Given the description of an element on the screen output the (x, y) to click on. 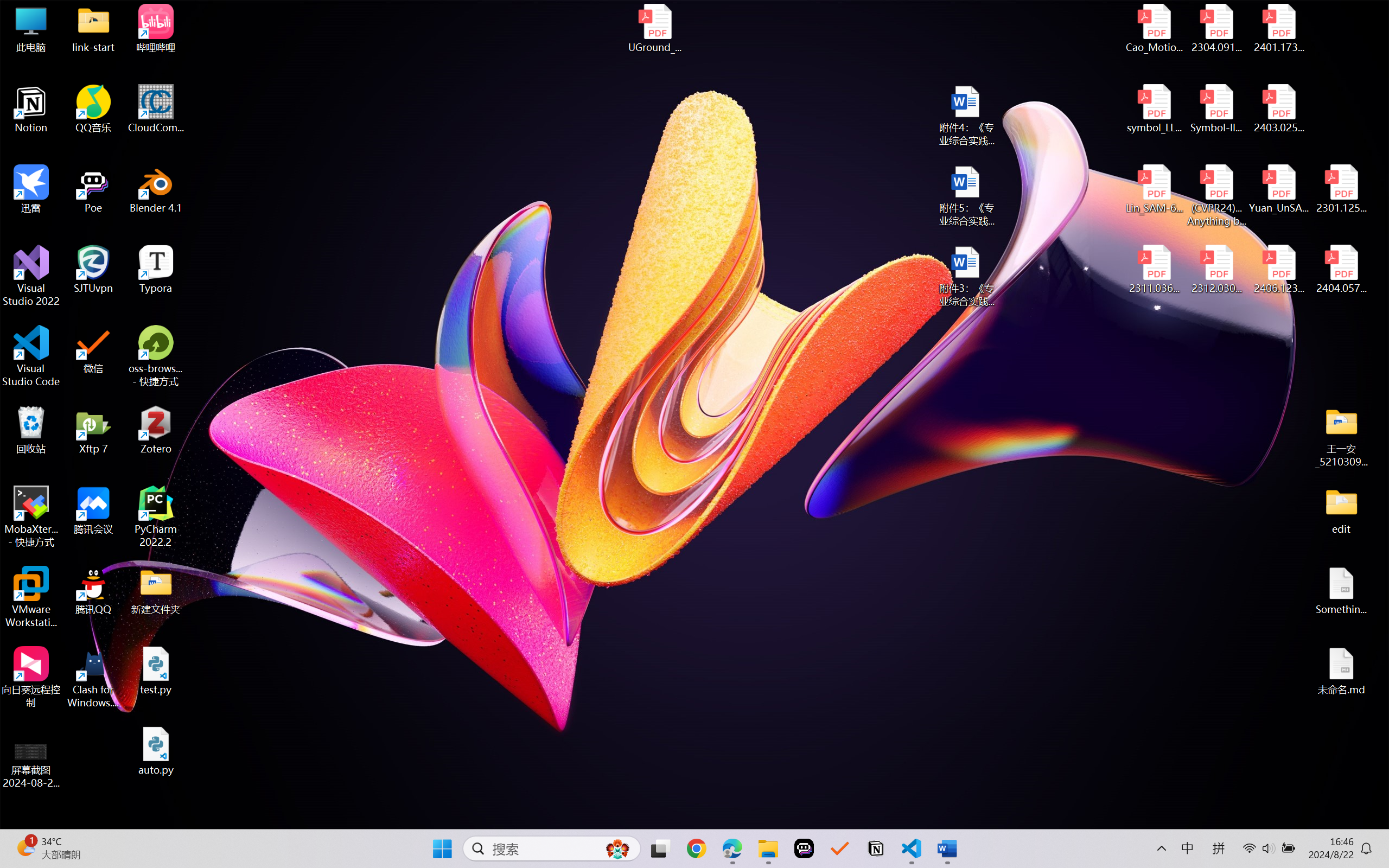
Visual Studio Code (31, 355)
(CVPR24)Matching Anything by Segmenting Anything.pdf (1216, 195)
Visual Studio 2022 (31, 276)
test.py (156, 670)
2311.03658v2.pdf (1154, 269)
auto.py (156, 751)
